Given the description of an element on the screen output the (x, y) to click on. 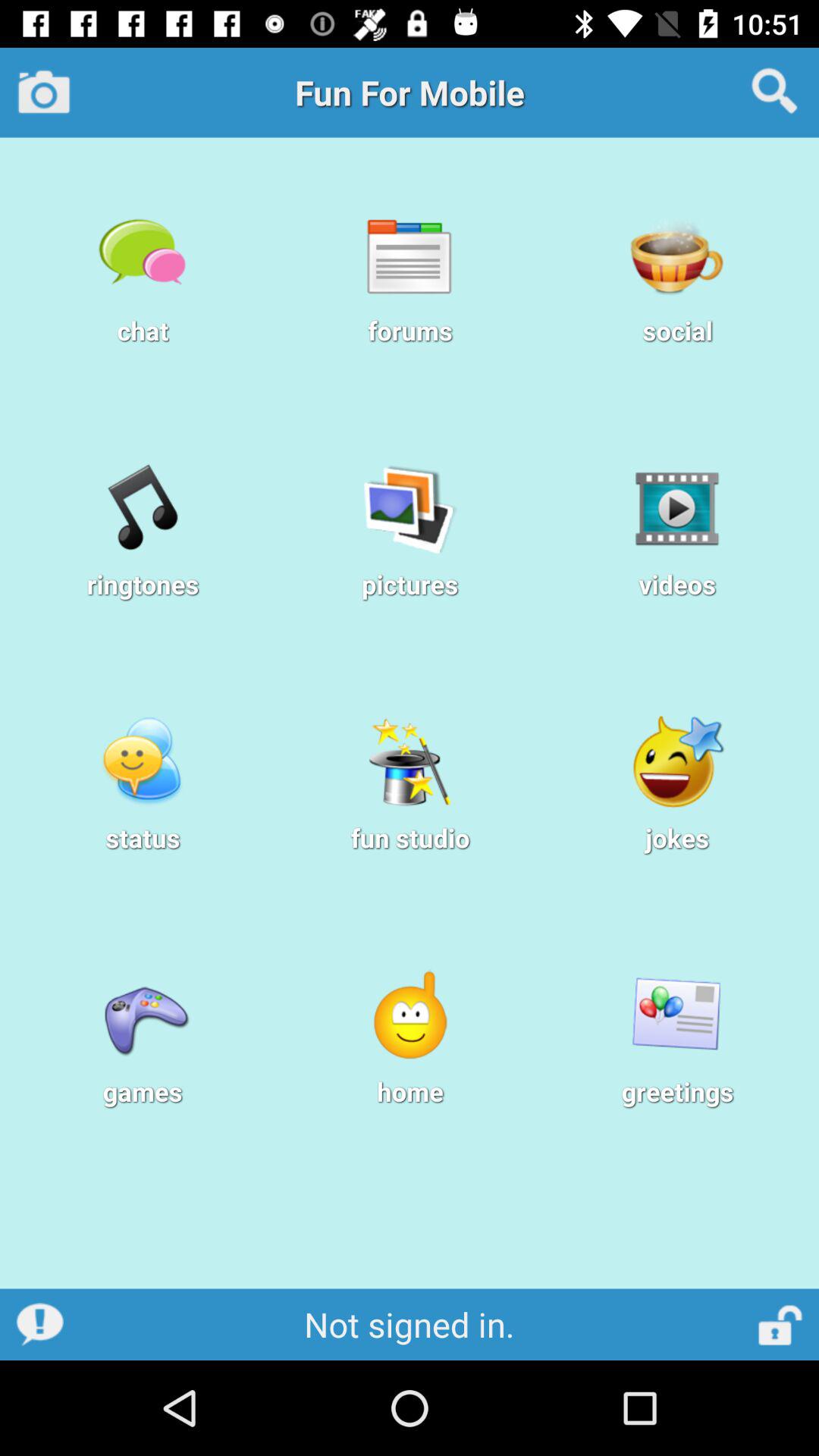
open camera (43, 91)
